Given the description of an element on the screen output the (x, y) to click on. 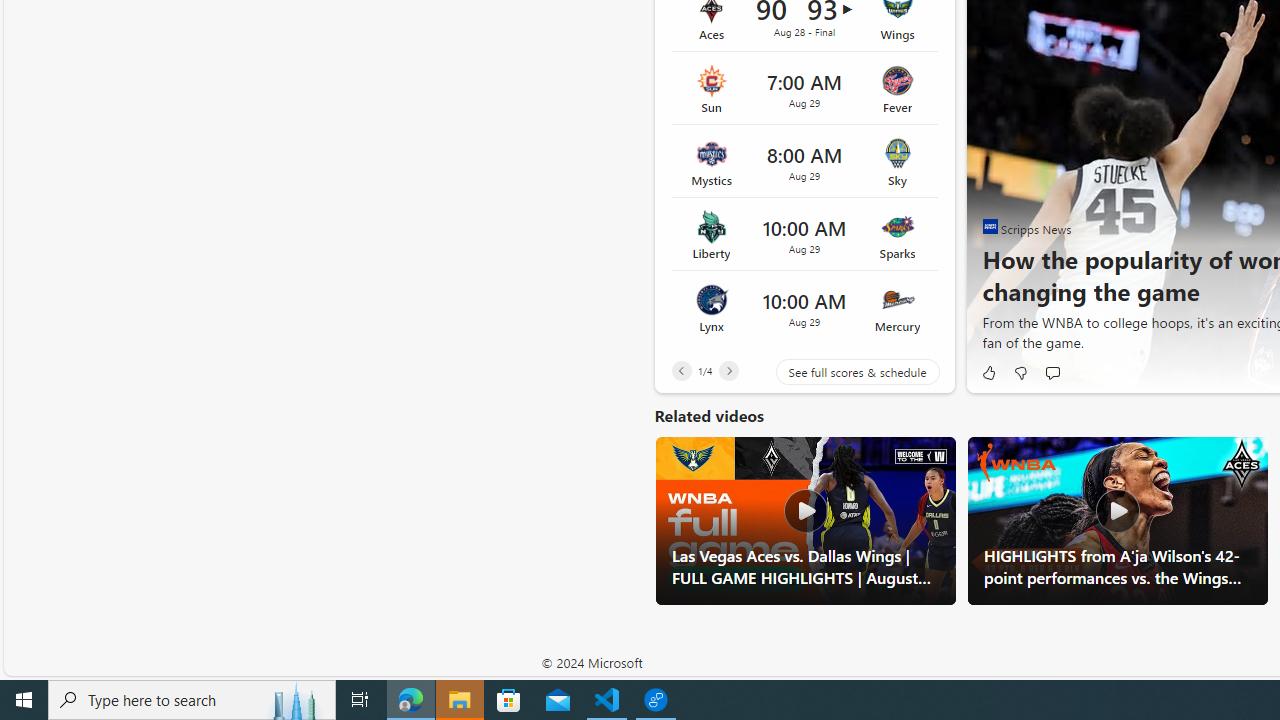
Class: around-the-league-card (804, 307)
See full scores & schedule (842, 372)
Like (987, 372)
Sun vs Fever Time 7:00 AM Date Aug 29 (804, 88)
Liberty vs Sparks Time 10:00 AM Date Aug 29 (804, 235)
Next (728, 370)
Lynx vs Mercury Time 10:00 AM Date Aug 29 (804, 307)
previous (992, 161)
Scripps News (989, 226)
